Given the description of an element on the screen output the (x, y) to click on. 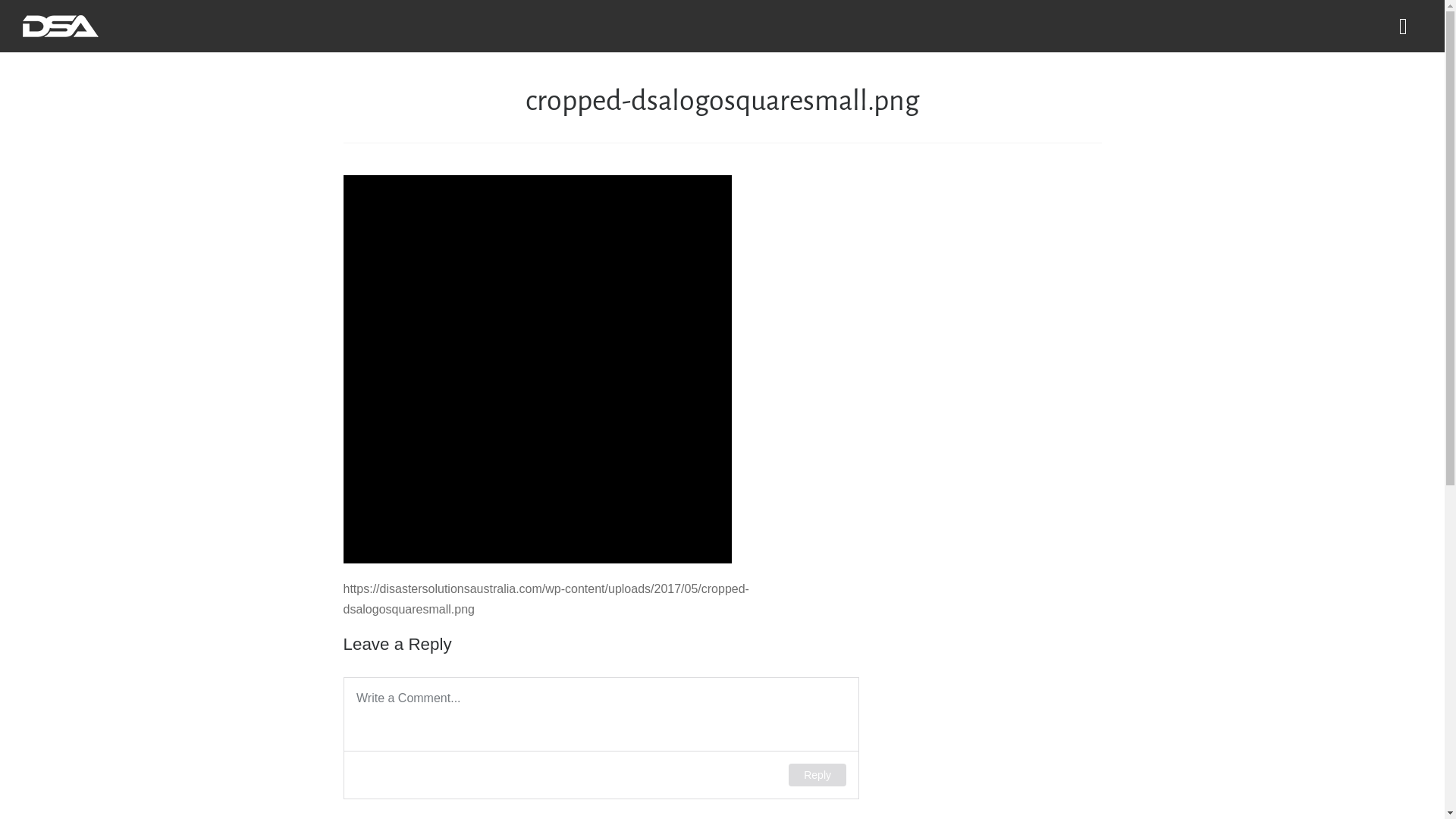
Comment Form Element type: hover (600, 738)
